Given the description of an element on the screen output the (x, y) to click on. 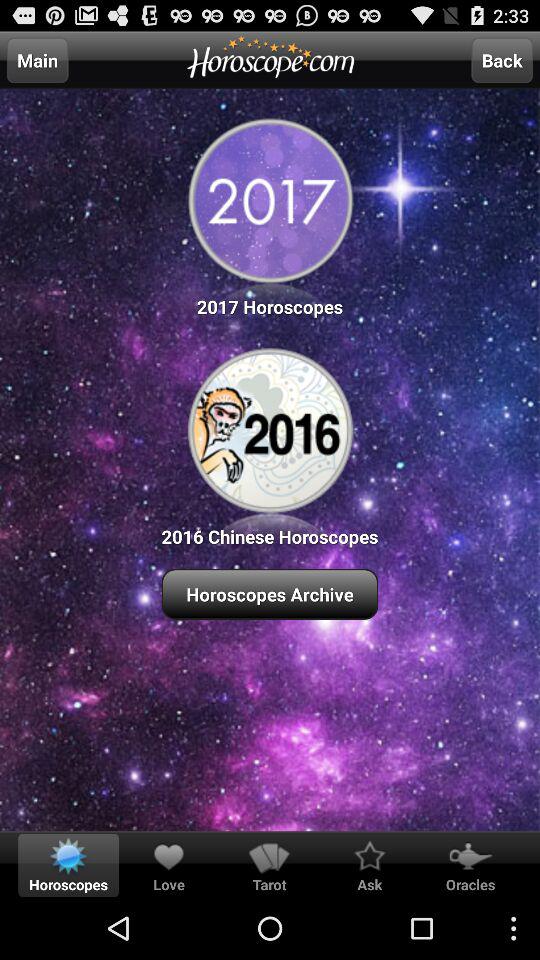
tap the icon above the 2016 chinese horoscopes item (269, 214)
